Given the description of an element on the screen output the (x, y) to click on. 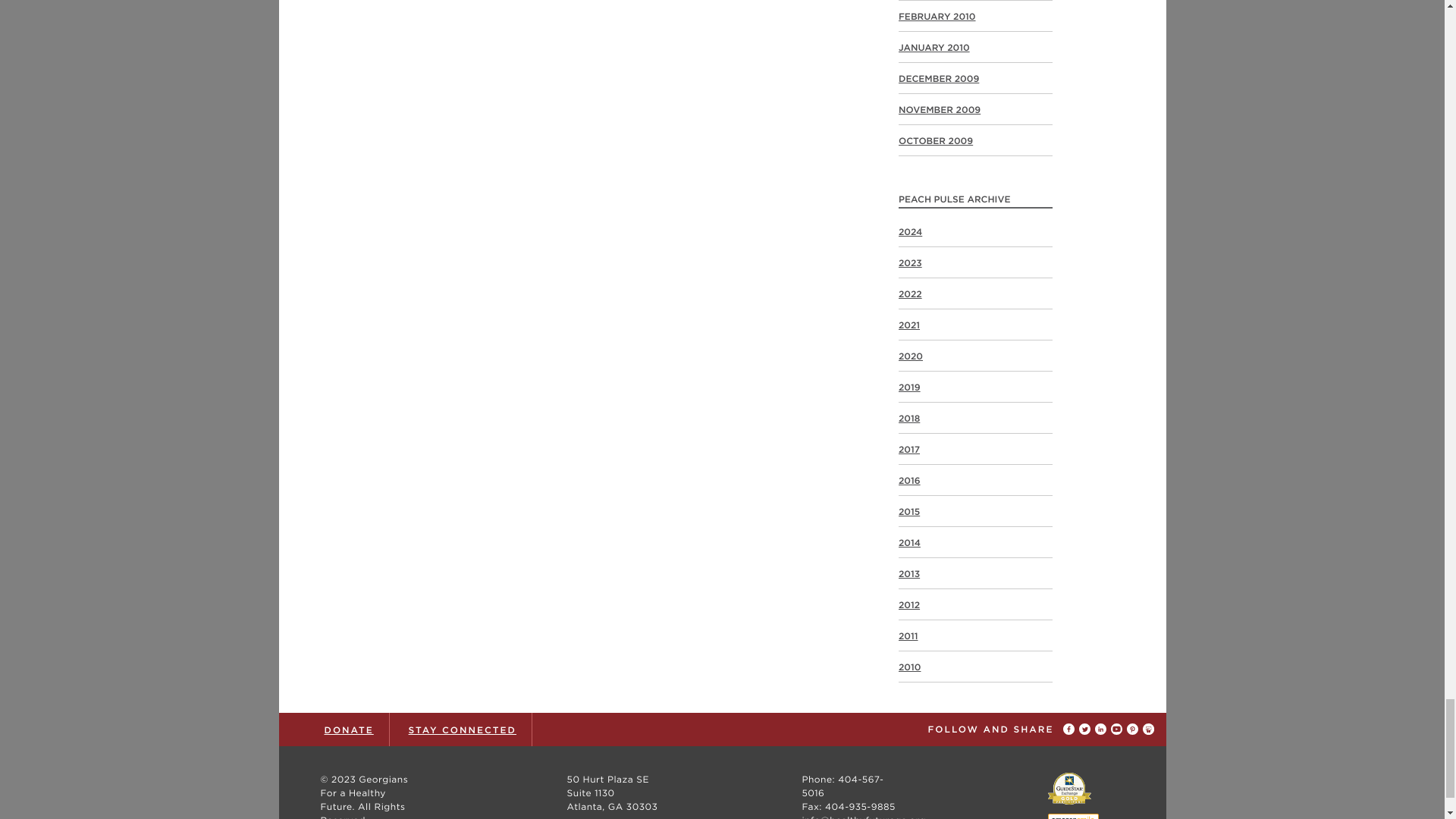
Share on youtube (1117, 729)
Share on facebook (1070, 729)
Share on twitter (1086, 729)
Share on linkedin (1102, 729)
